Given the description of an element on the screen output the (x, y) to click on. 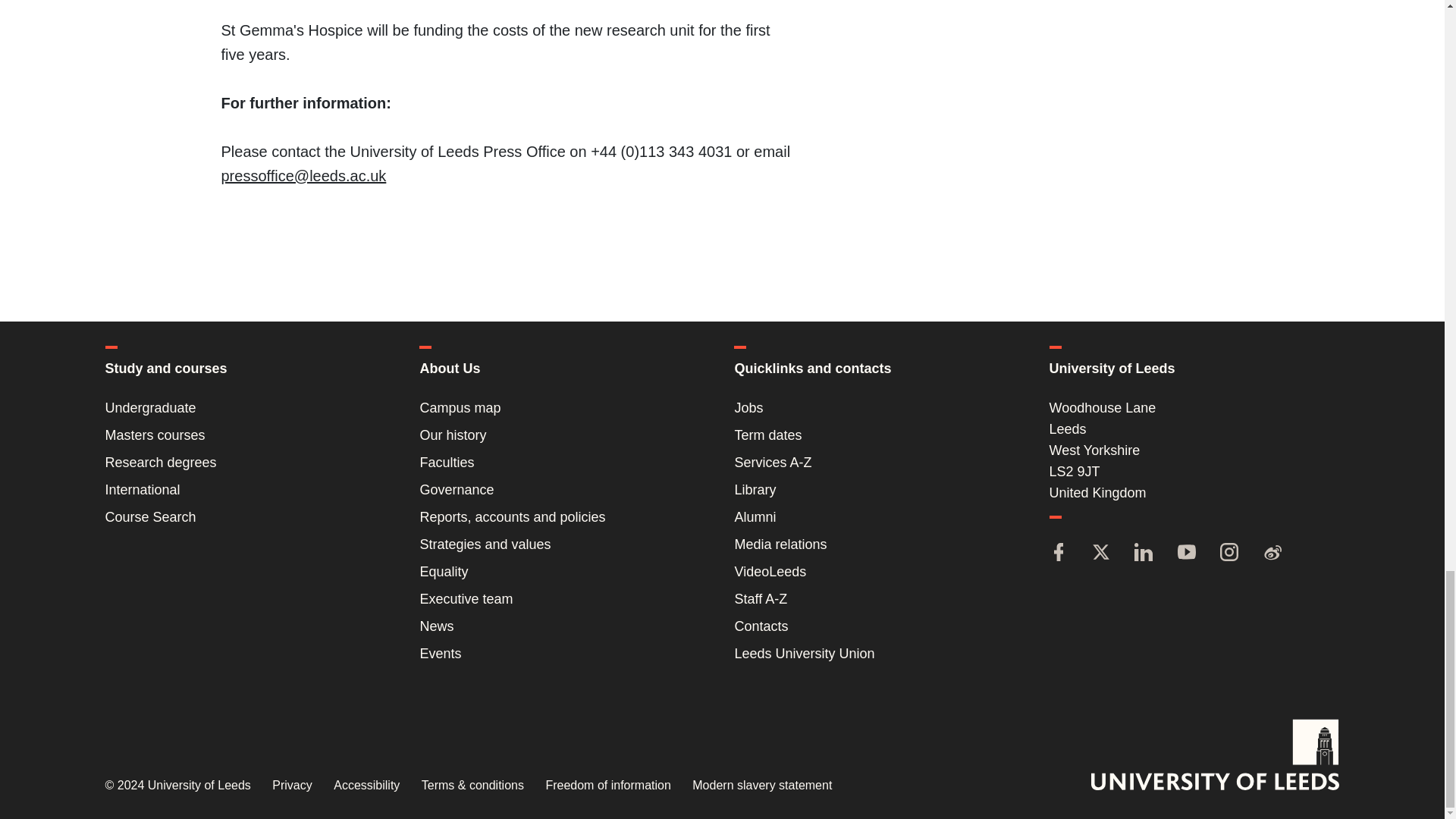
Go to Modern slavery statement page (762, 784)
Go to Accessibility page (365, 784)
Go to Privacy page (291, 784)
Go to Freedom of information page (606, 784)
